Given the description of an element on the screen output the (x, y) to click on. 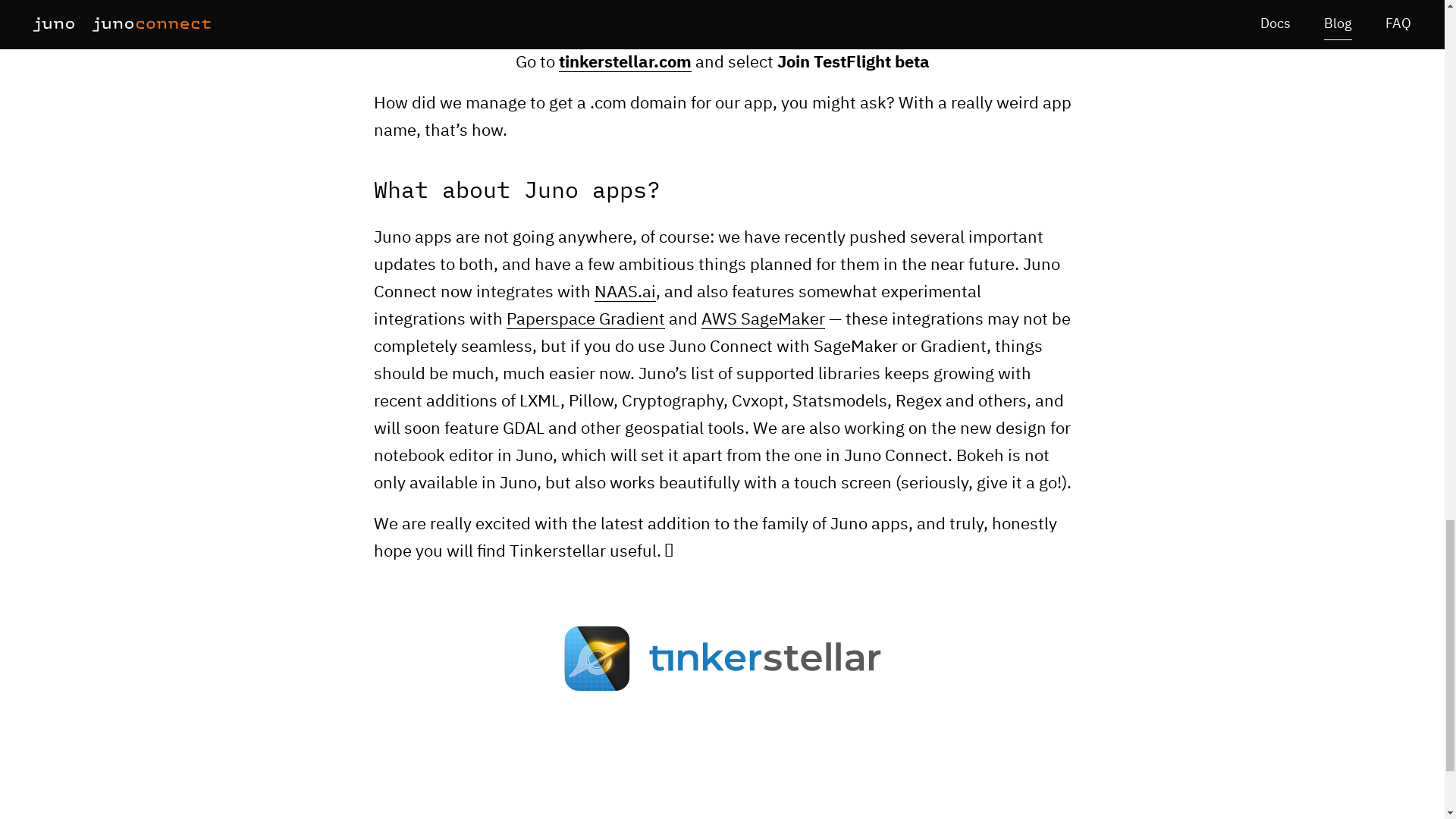
AWS SageMaker (762, 320)
tinkerstellar.com (623, 63)
NAAS.ai (625, 293)
Paperspace Gradient (585, 320)
